Given the description of an element on the screen output the (x, y) to click on. 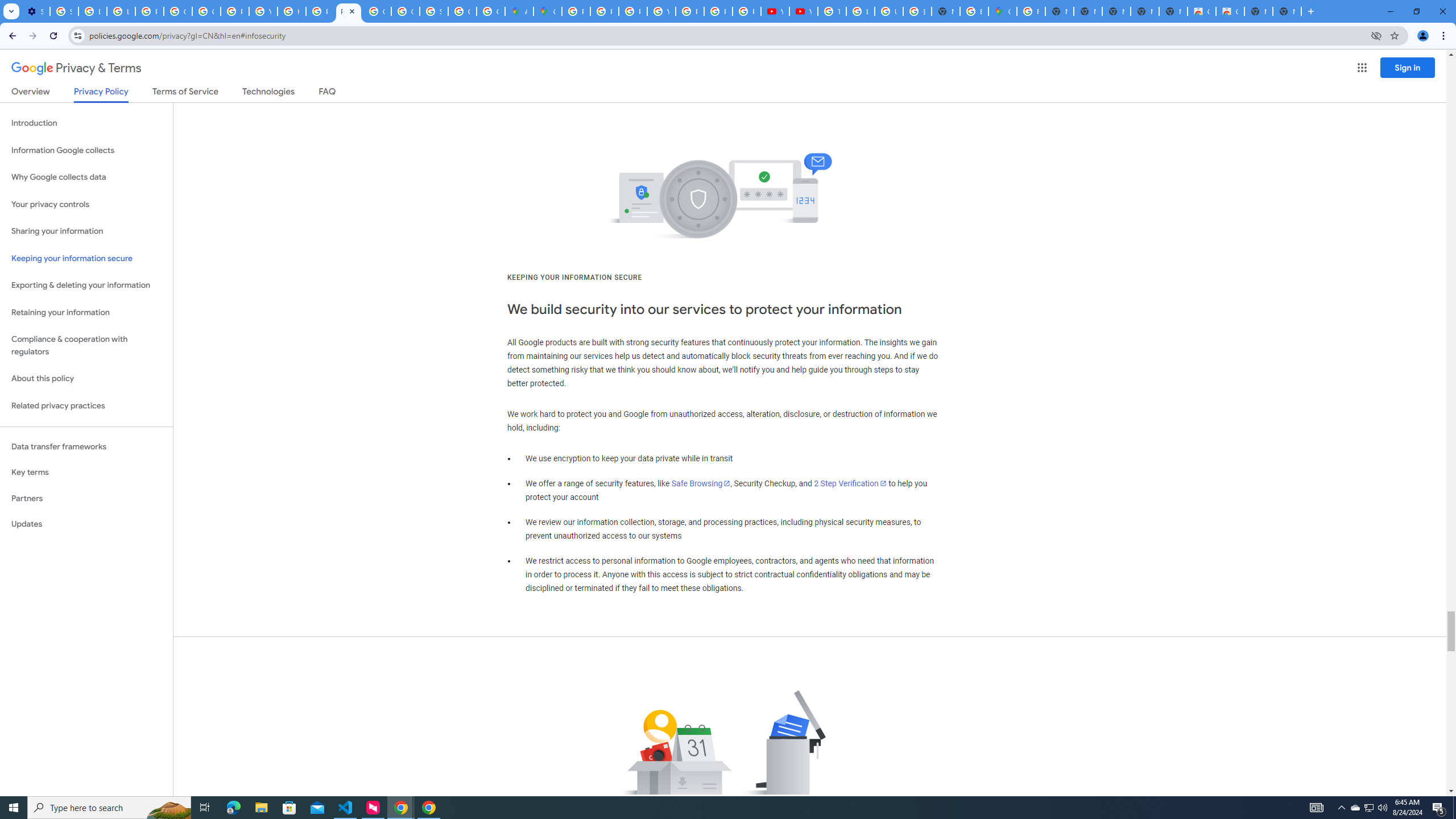
Updates (86, 524)
Privacy Checkup (746, 11)
Explore new street-level details - Google Maps Help (973, 11)
Privacy Help Center - Policies Help (632, 11)
https://scholar.google.com/ (291, 11)
Google Maps (547, 11)
FAQ (327, 93)
Privacy Help Center - Policies Help (604, 11)
